Given the description of an element on the screen output the (x, y) to click on. 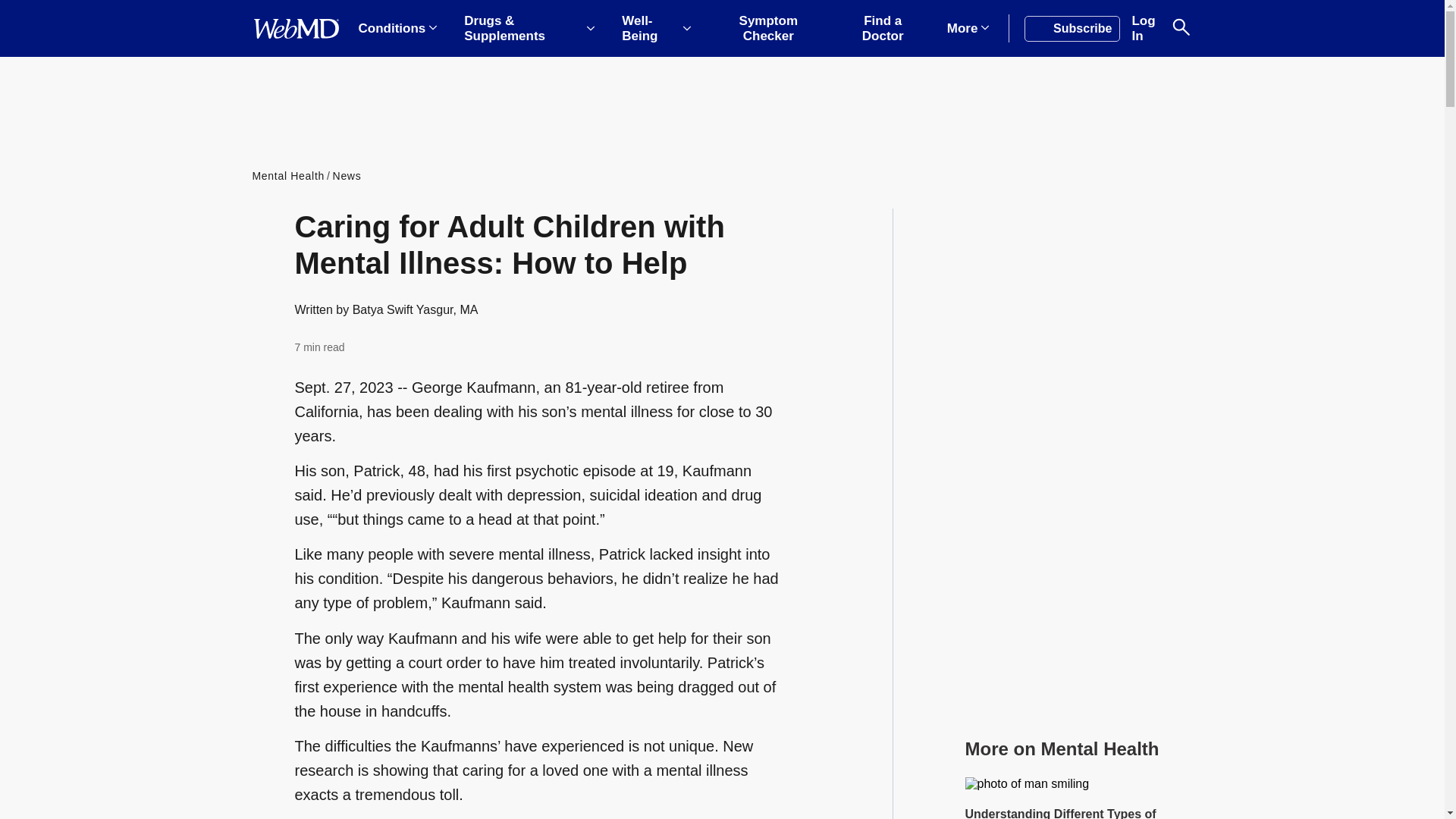
Conditions (397, 28)
